Given the description of an element on the screen output the (x, y) to click on. 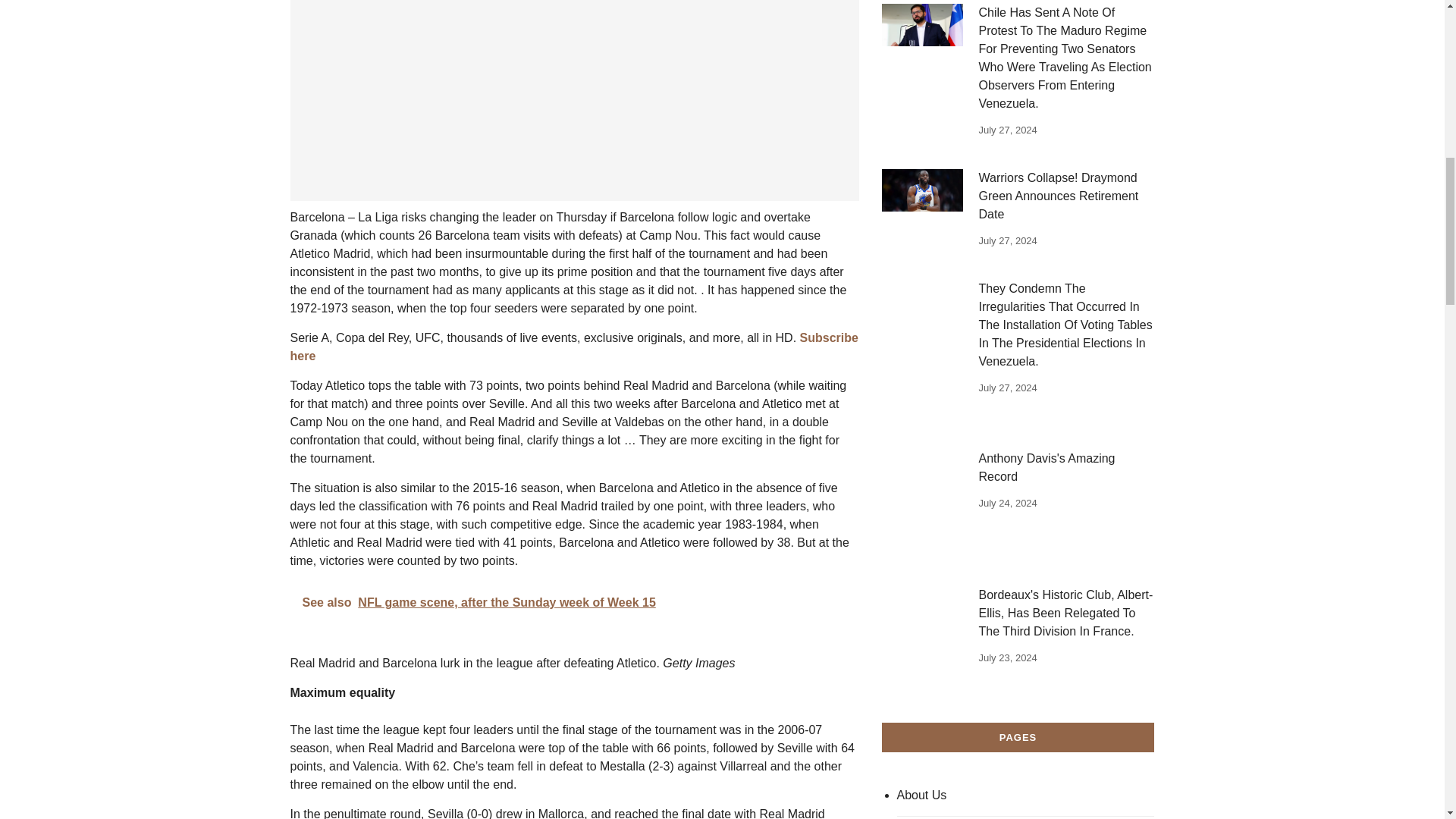
Advertisement (574, 100)
Warriors Collapse! Draymond Green Announces Retirement Date (921, 190)
Subscribe here (573, 346)
See also  NFL game scene, after the Sunday week of Week 15 (574, 602)
